Given the description of an element on the screen output the (x, y) to click on. 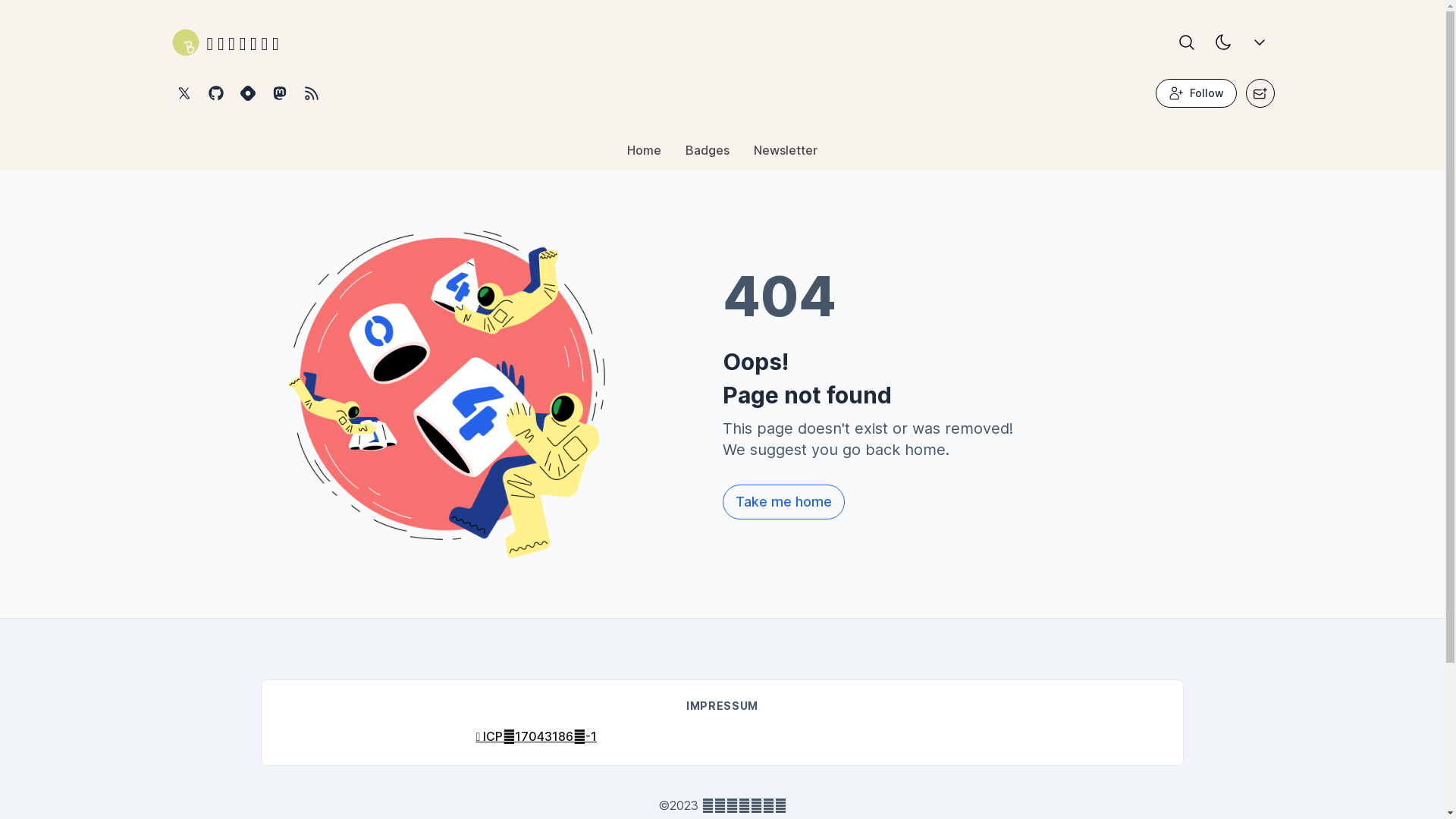
Newsletter Element type: text (785, 153)
Badges Element type: text (707, 153)
Home Element type: text (644, 153)
Take me home Element type: text (782, 501)
Follow Element type: text (1195, 92)
